Given the description of an element on the screen output the (x, y) to click on. 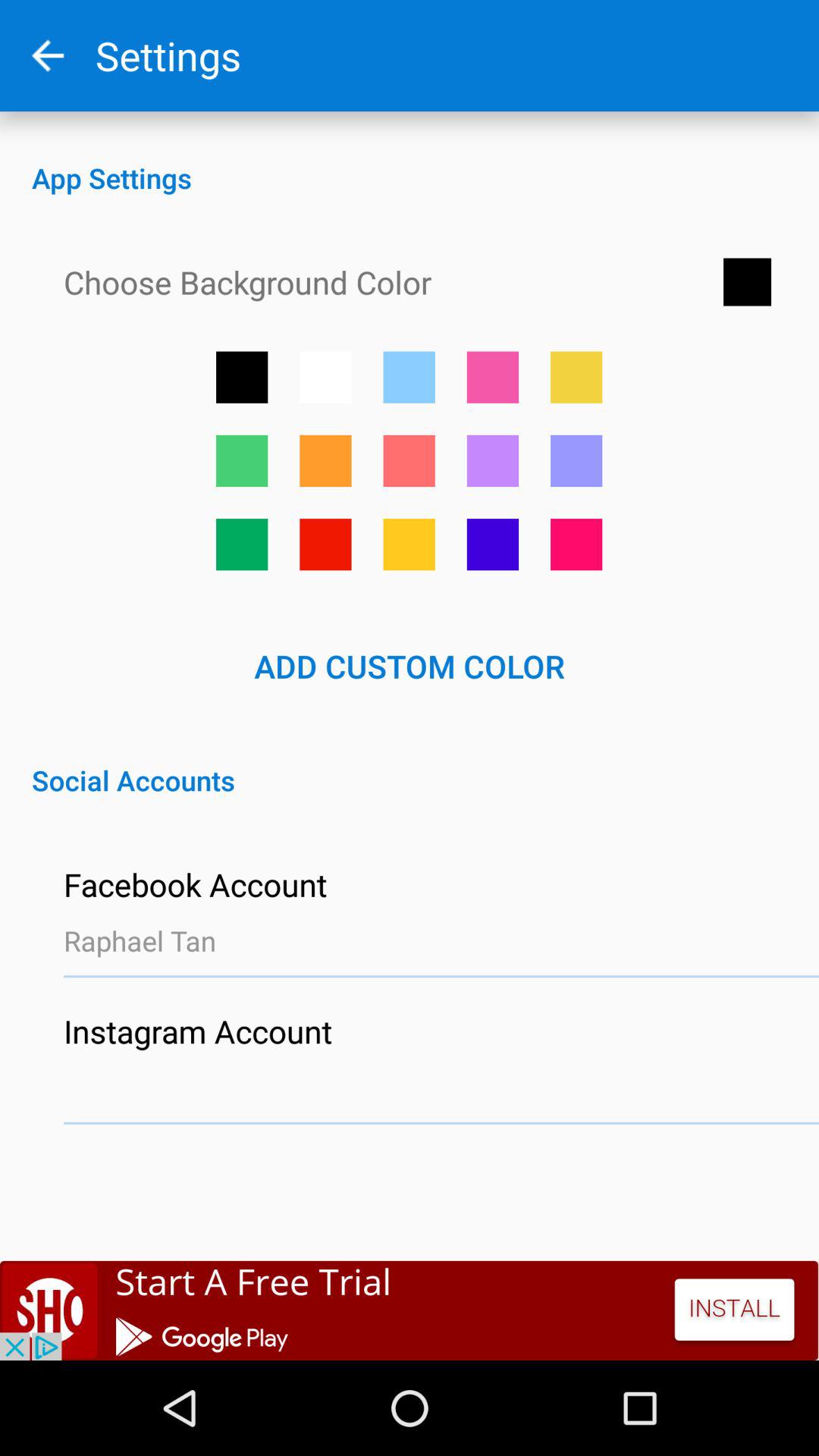
set background color to pink (492, 377)
